Given the description of an element on the screen output the (x, y) to click on. 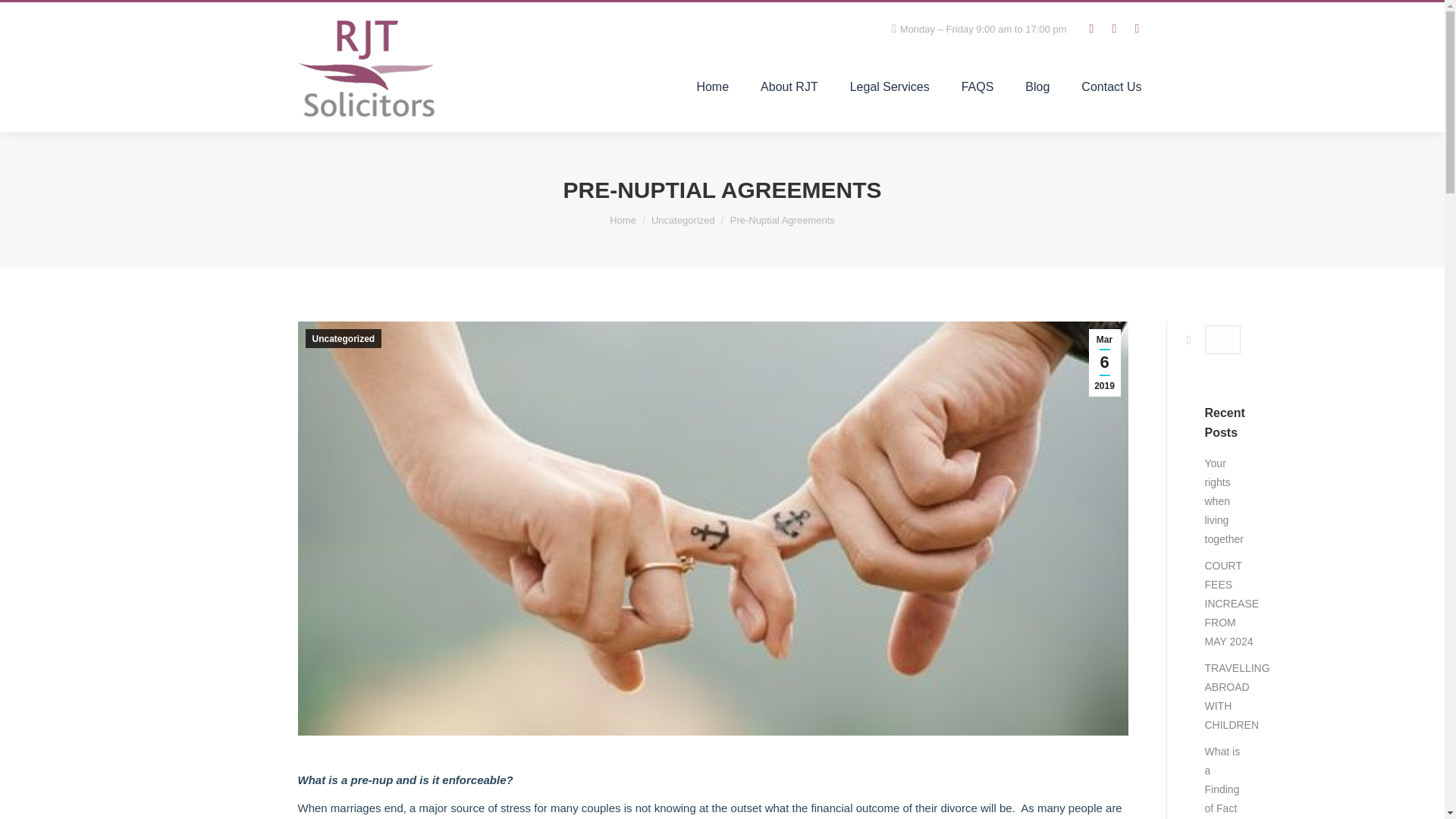
Uncategorized (682, 220)
Go! (1181, 339)
FAQS (977, 86)
Go! (1181, 339)
Facebook (1090, 28)
Facebook (1090, 28)
Home (711, 86)
Home (623, 220)
Contact Us (1111, 86)
Uncategorized (342, 338)
